Given the description of an element on the screen output the (x, y) to click on. 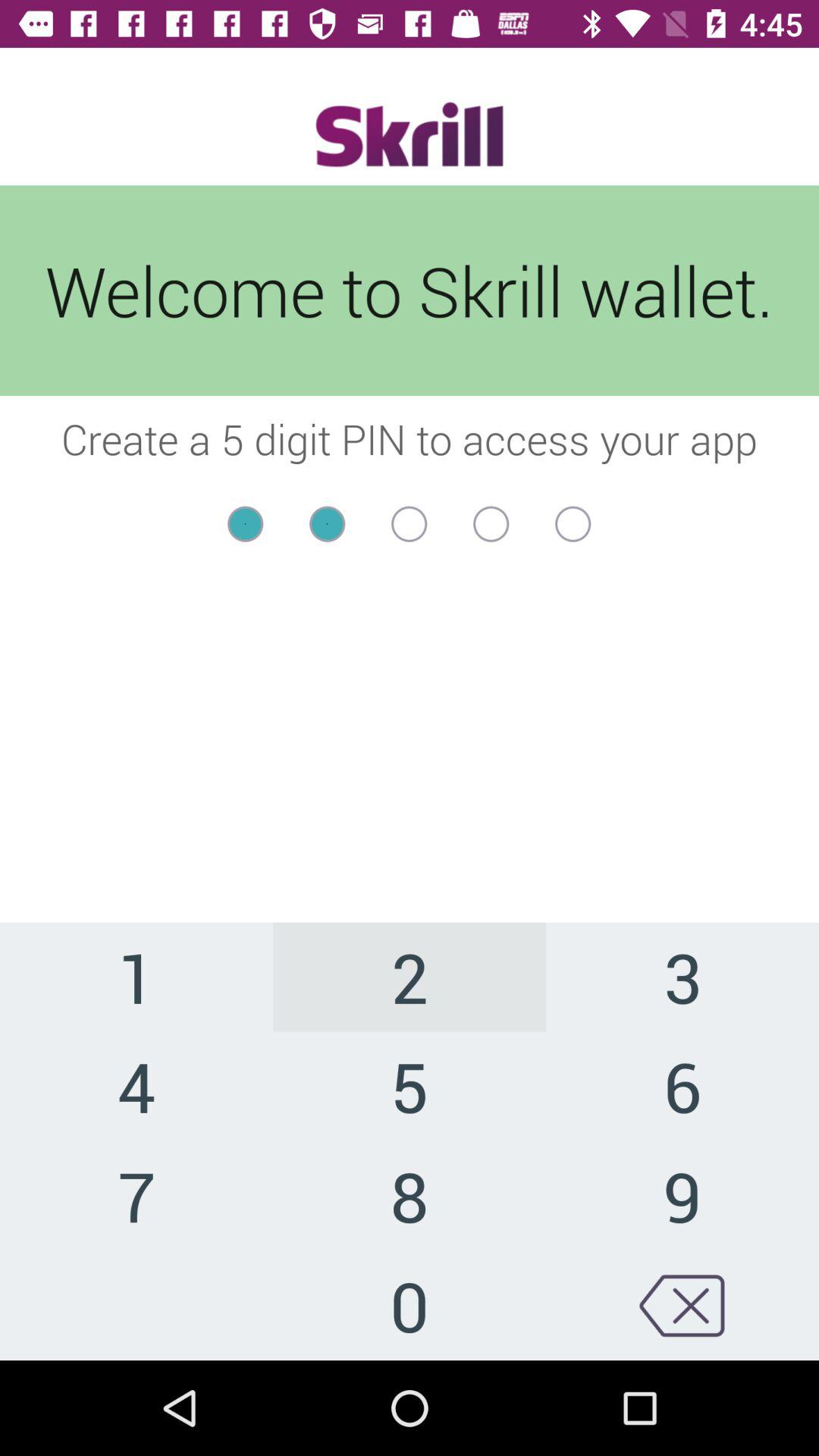
turn off the 0 icon (409, 1305)
